Given the description of an element on the screen output the (x, y) to click on. 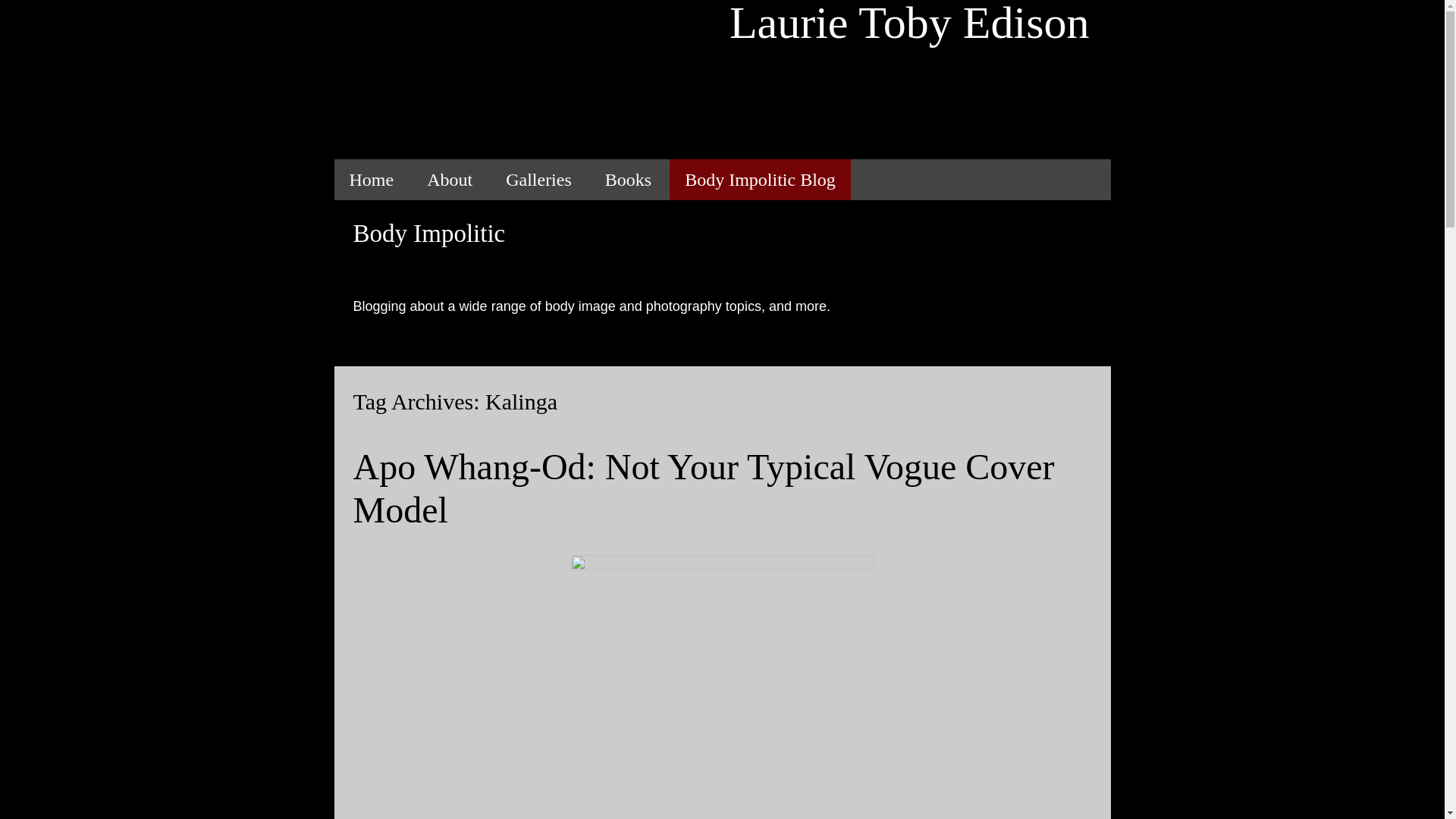
Laurie Toby Edison (721, 79)
About (449, 178)
Search (18, 15)
Apo Whang-Od: Not Your Typical Vogue Cover Model (703, 488)
Laurie Toby Edison (721, 79)
Galleries (538, 178)
Body Impolitic Blog (759, 178)
Home (371, 178)
Books (627, 178)
